Given the description of an element on the screen output the (x, y) to click on. 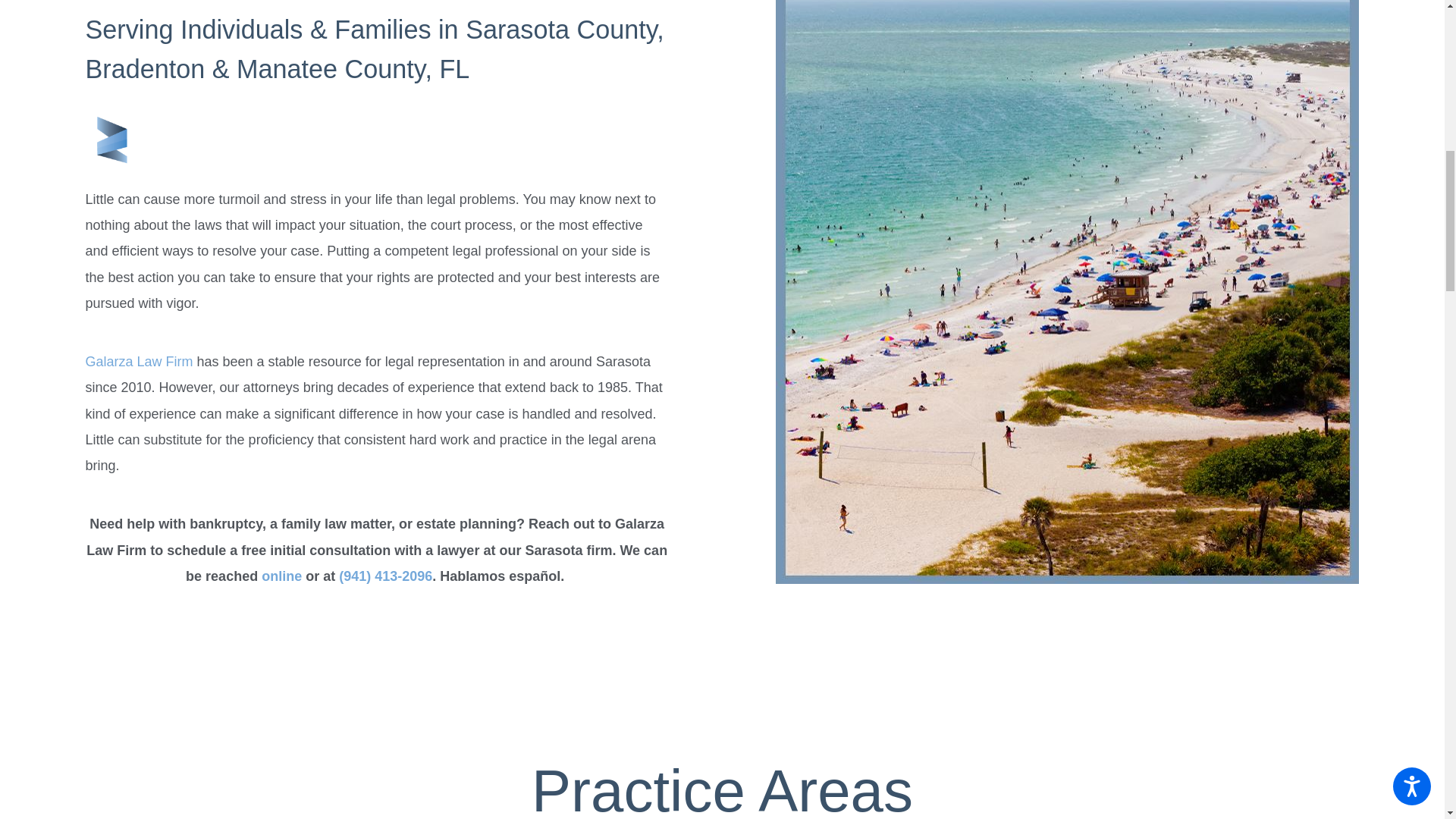
online (281, 575)
Galarza Law Firm (138, 361)
